Given the description of an element on the screen output the (x, y) to click on. 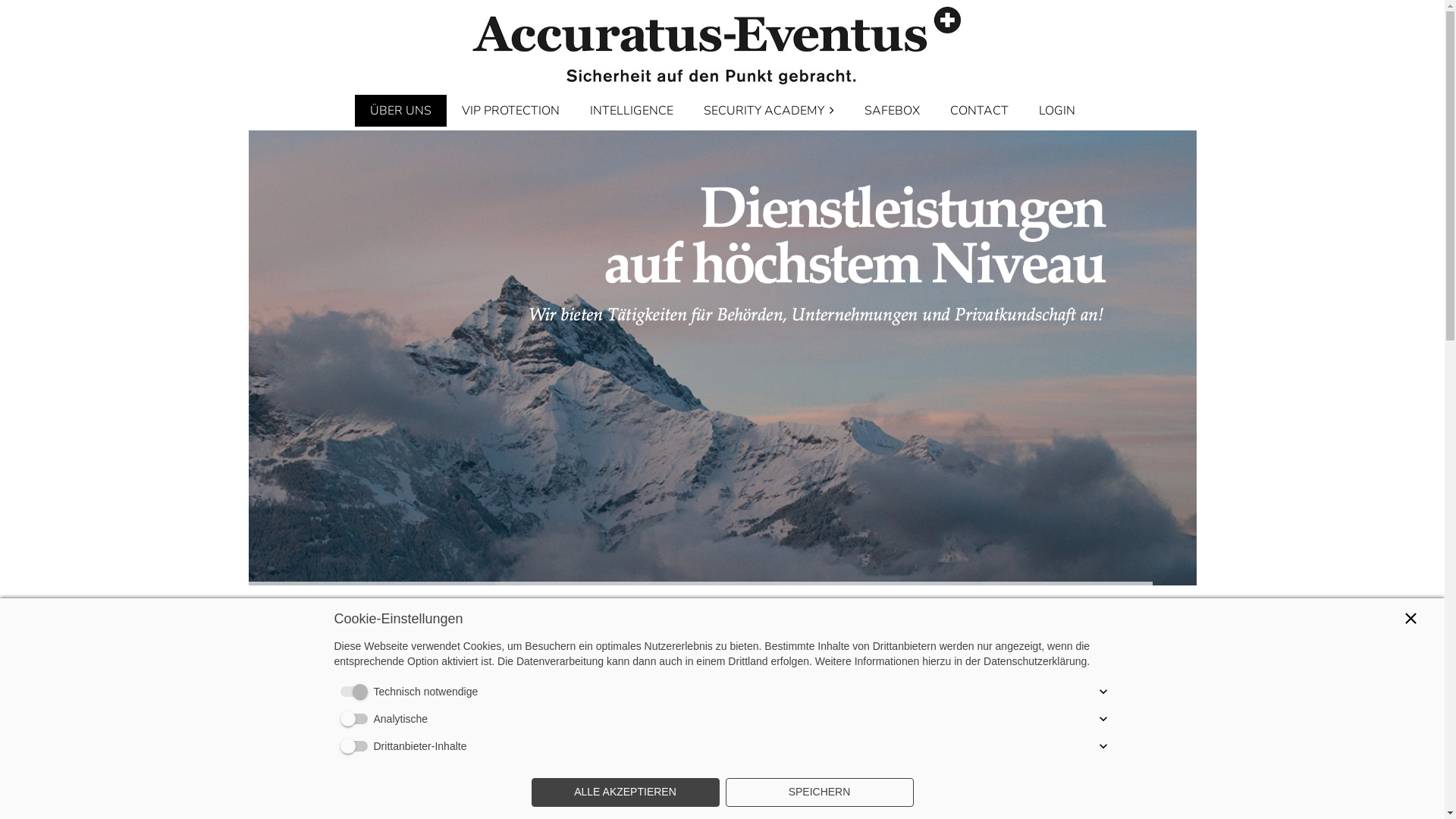
CONTACT Element type: text (978, 110)
LOGIN Element type: text (1056, 110)
SECURITY ACADEMY Element type: text (768, 110)
INTELLIGENCE Element type: text (631, 110)
VIP PROTECTION Element type: text (509, 110)
SPEICHERN Element type: text (818, 792)
ALLE AKZEPTIEREN Element type: text (624, 792)
SAFEBOX Element type: text (892, 110)
